Given the description of an element on the screen output the (x, y) to click on. 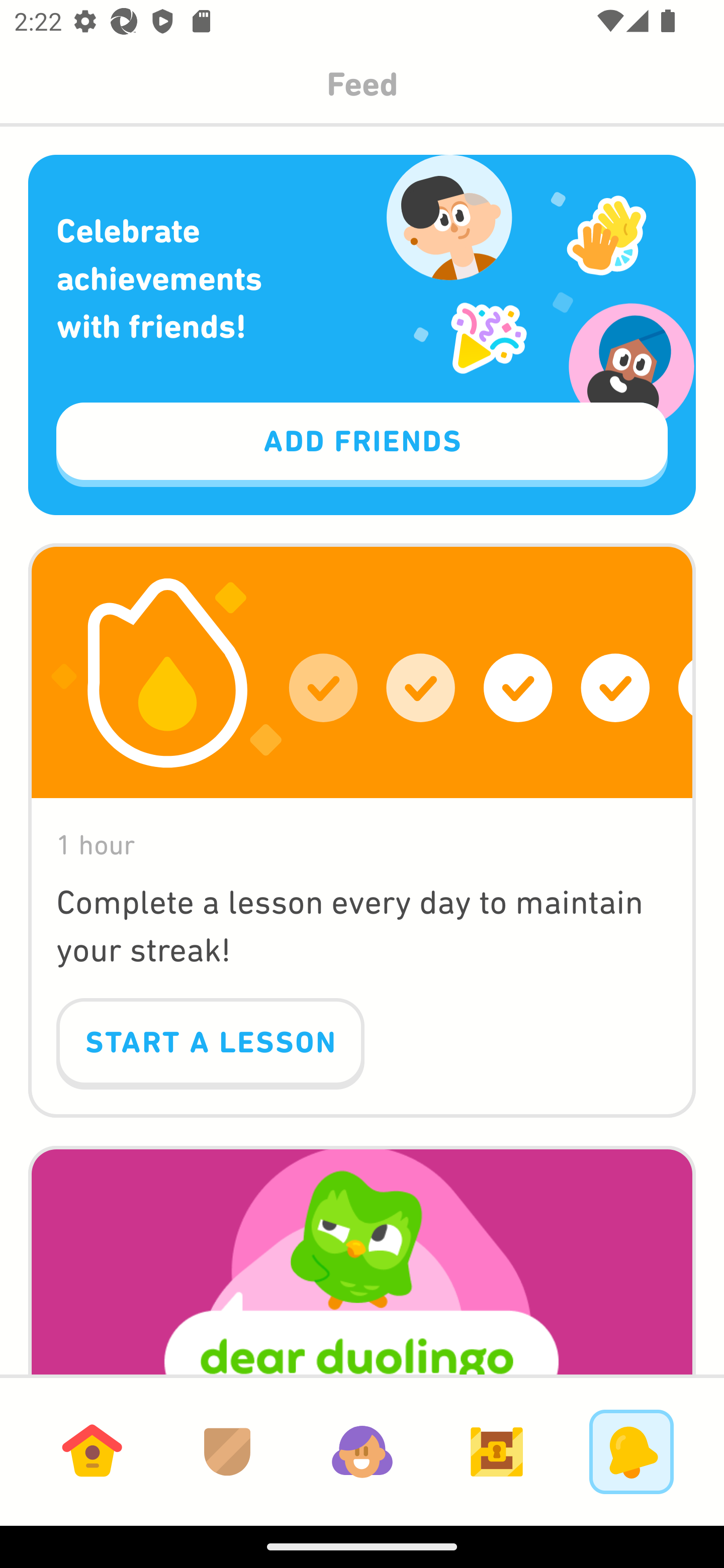
ADD FRIENDS (361, 444)
START A LESSON (210, 1043)
Learn Tab (91, 1451)
Leagues Tab (227, 1451)
Profile Tab (361, 1451)
Goals Tab (496, 1451)
News Tab (631, 1451)
